Given the description of an element on the screen output the (x, y) to click on. 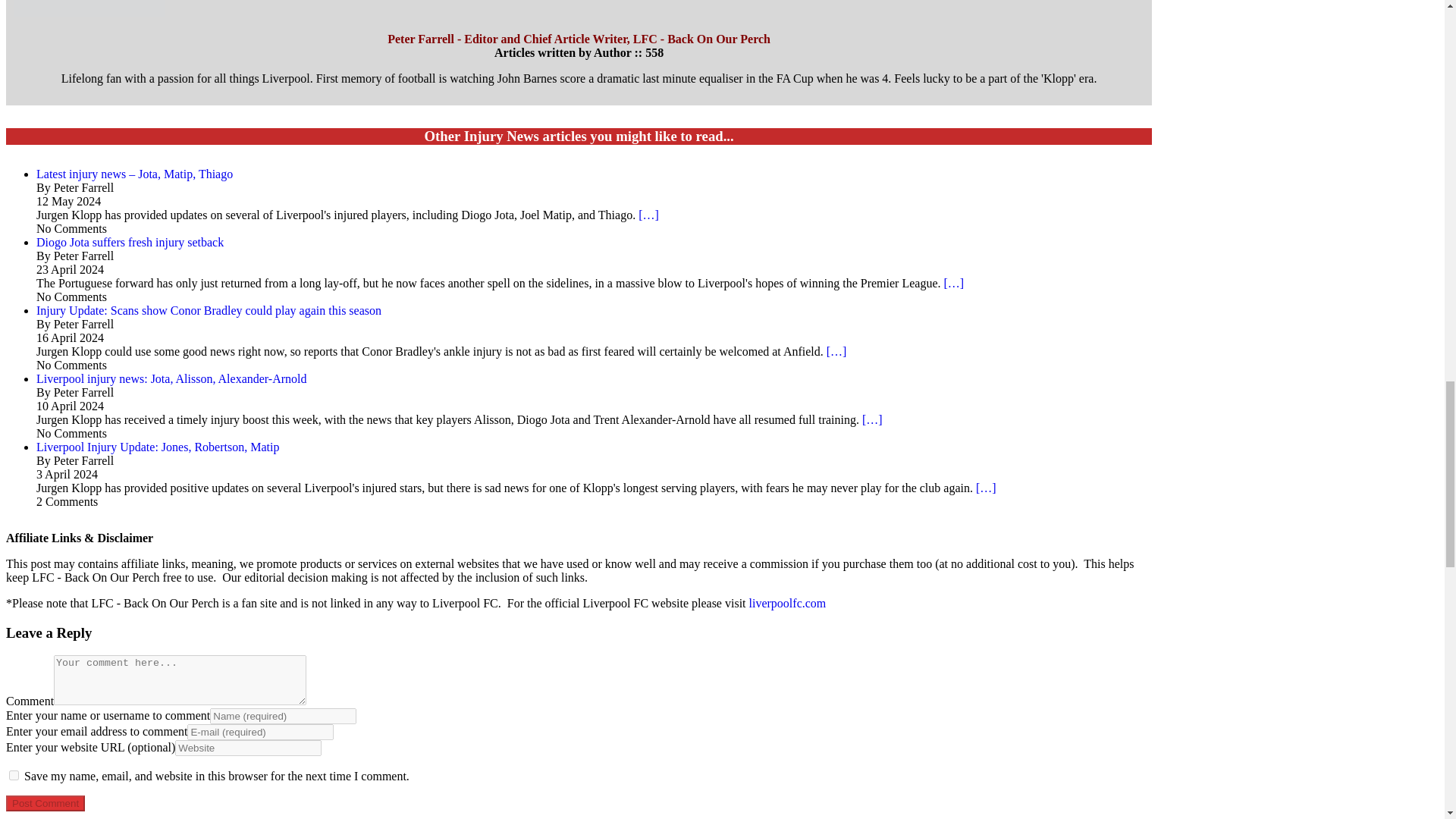
Diogo Jota suffers fresh injury setback (130, 241)
Liverpool injury news: Jota, Alisson, Alexander-Arnold (171, 378)
Post Comment (44, 803)
yes (13, 775)
liverpoolfc.com (788, 603)
Post Comment (44, 803)
Liverpool Injury Update: Jones, Robertson, Matip (157, 446)
